Given the description of an element on the screen output the (x, y) to click on. 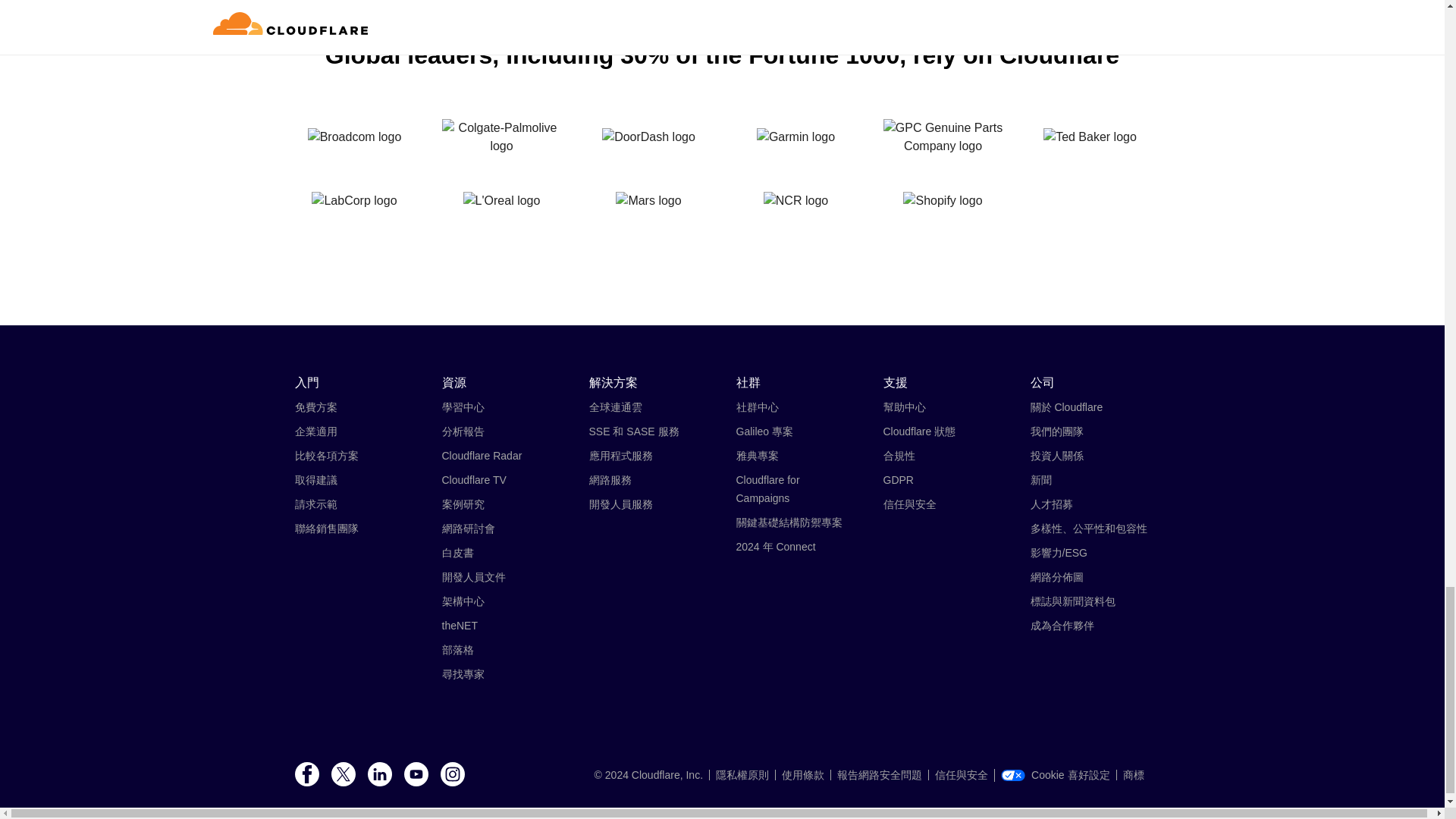
Cloudflare for Campaigns (767, 489)
Cloudflare TV (473, 480)
X (342, 775)
Instagram (451, 775)
Cloudflare Radar (481, 455)
theNET (459, 625)
Facebook (306, 775)
Youtube (415, 775)
LinkedIn (378, 775)
